Given the description of an element on the screen output the (x, y) to click on. 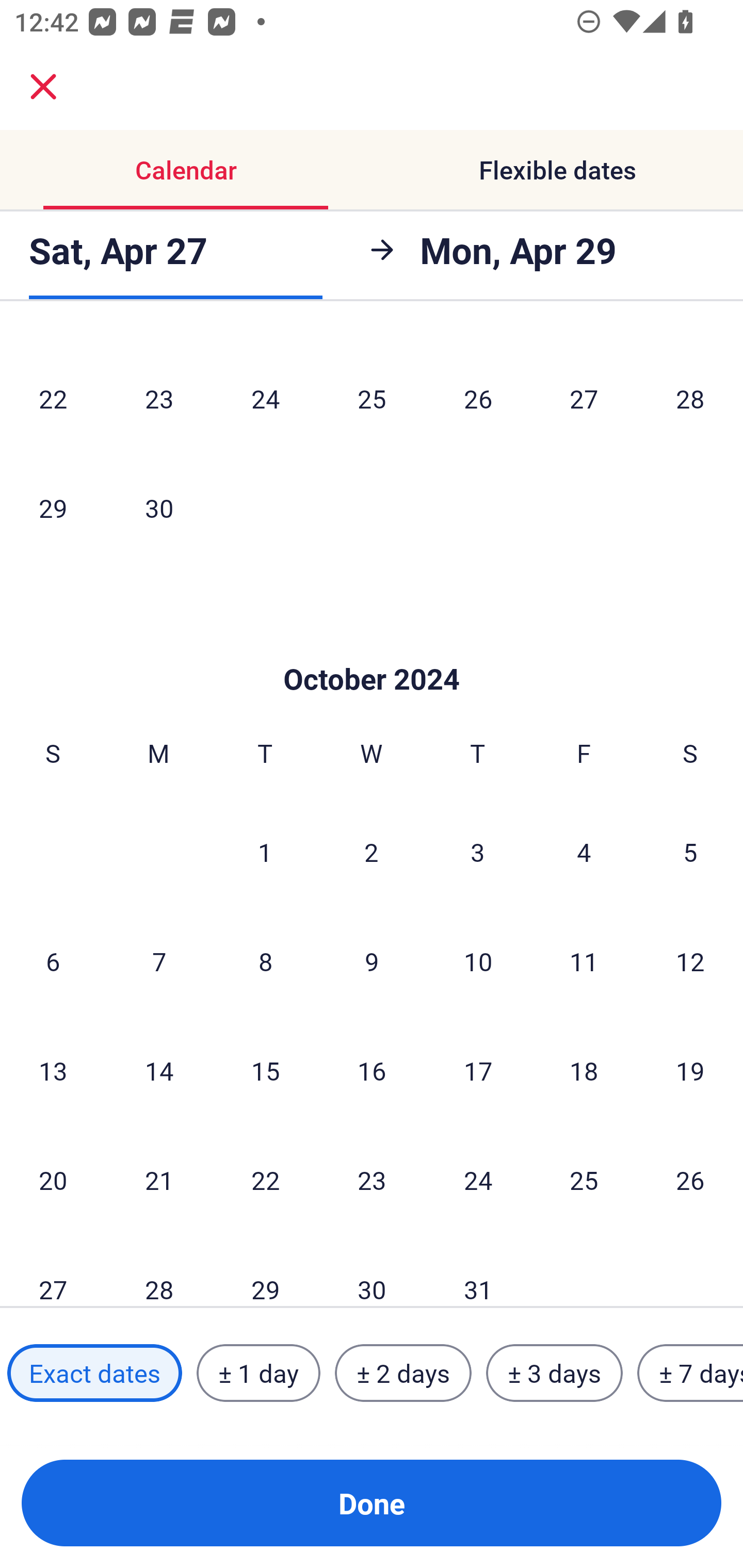
close. (43, 86)
Flexible dates (557, 170)
22 Sunday, September 22, 2024 (53, 397)
23 Monday, September 23, 2024 (159, 397)
24 Tuesday, September 24, 2024 (265, 397)
25 Wednesday, September 25, 2024 (371, 397)
26 Thursday, September 26, 2024 (477, 397)
27 Friday, September 27, 2024 (584, 397)
28 Saturday, September 28, 2024 (690, 397)
29 Sunday, September 29, 2024 (53, 507)
30 Monday, September 30, 2024 (159, 507)
Skip to Done (371, 648)
1 Tuesday, October 1, 2024 (264, 851)
2 Wednesday, October 2, 2024 (371, 851)
3 Thursday, October 3, 2024 (477, 851)
4 Friday, October 4, 2024 (584, 851)
5 Saturday, October 5, 2024 (690, 851)
6 Sunday, October 6, 2024 (53, 960)
7 Monday, October 7, 2024 (159, 960)
8 Tuesday, October 8, 2024 (265, 960)
9 Wednesday, October 9, 2024 (371, 960)
10 Thursday, October 10, 2024 (477, 960)
11 Friday, October 11, 2024 (584, 960)
12 Saturday, October 12, 2024 (690, 960)
13 Sunday, October 13, 2024 (53, 1069)
14 Monday, October 14, 2024 (159, 1069)
15 Tuesday, October 15, 2024 (265, 1069)
16 Wednesday, October 16, 2024 (371, 1069)
17 Thursday, October 17, 2024 (477, 1069)
18 Friday, October 18, 2024 (584, 1069)
19 Saturday, October 19, 2024 (690, 1069)
20 Sunday, October 20, 2024 (53, 1179)
21 Monday, October 21, 2024 (159, 1179)
22 Tuesday, October 22, 2024 (265, 1179)
23 Wednesday, October 23, 2024 (371, 1179)
24 Thursday, October 24, 2024 (477, 1179)
25 Friday, October 25, 2024 (584, 1179)
26 Saturday, October 26, 2024 (690, 1179)
27 Sunday, October 27, 2024 (53, 1270)
28 Monday, October 28, 2024 (159, 1270)
29 Tuesday, October 29, 2024 (265, 1270)
30 Wednesday, October 30, 2024 (371, 1270)
31 Thursday, October 31, 2024 (477, 1270)
Exact dates (94, 1372)
± 1 day (258, 1372)
± 2 days (403, 1372)
± 3 days (553, 1372)
± 7 days (690, 1372)
Done (371, 1502)
